Given the description of an element on the screen output the (x, y) to click on. 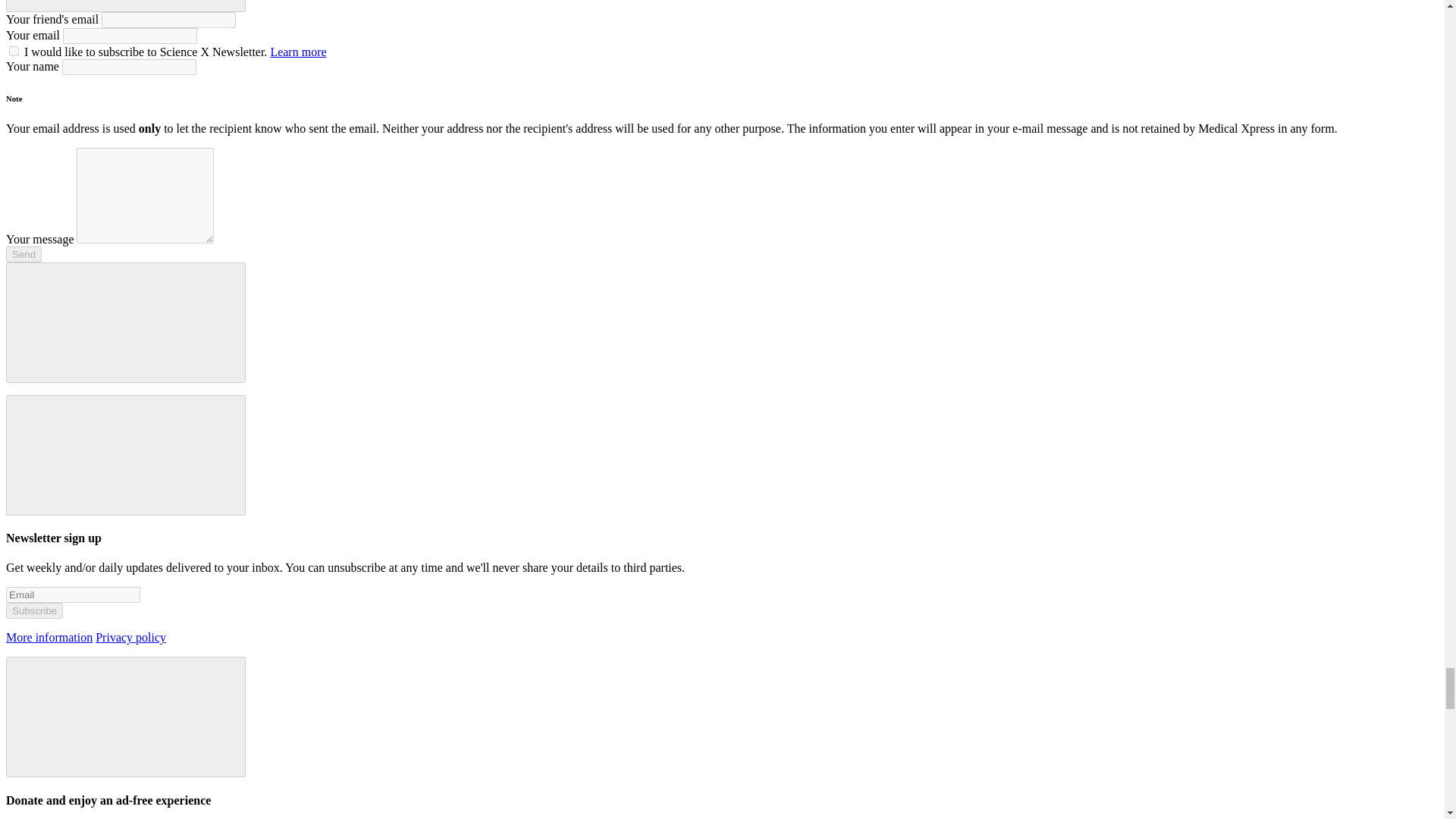
1 (13, 50)
